Given the description of an element on the screen output the (x, y) to click on. 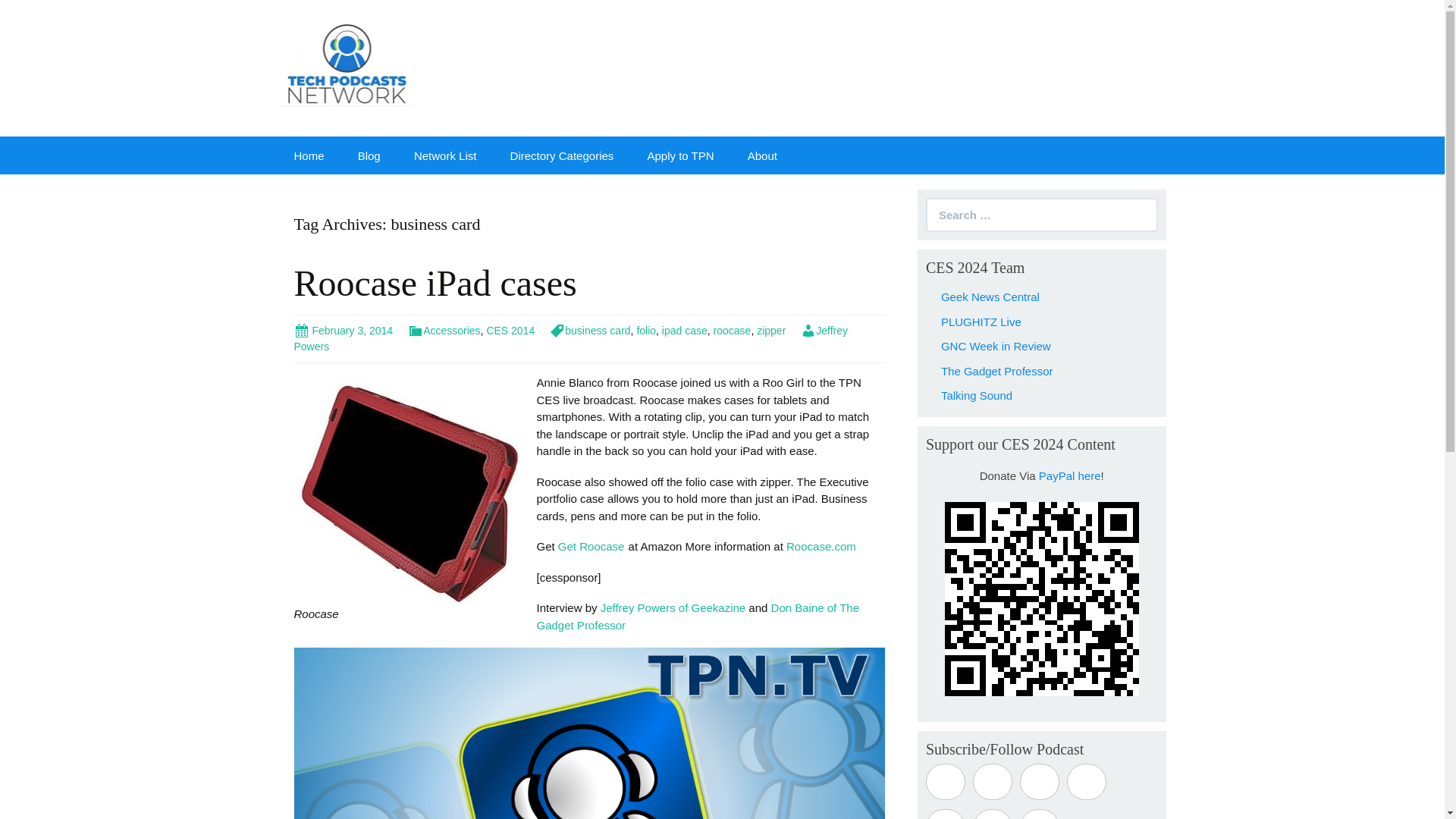
Get Roocase (590, 545)
Permalink to Roocase iPad cases (343, 330)
The Gadget Professor (996, 369)
Directory Categories (561, 155)
business card (590, 330)
PLUGHITZ Live (981, 321)
View all posts by Jeffrey Powers (571, 338)
Search for: (1041, 214)
Jeffrey Powers (571, 338)
Accessories (443, 330)
Blog (369, 155)
Subscribe via RSS (991, 814)
Don Baine of The Gadget Professor (698, 616)
Home (309, 155)
Subscribe on Apple Podcasts (945, 781)
